Given the description of an element on the screen output the (x, y) to click on. 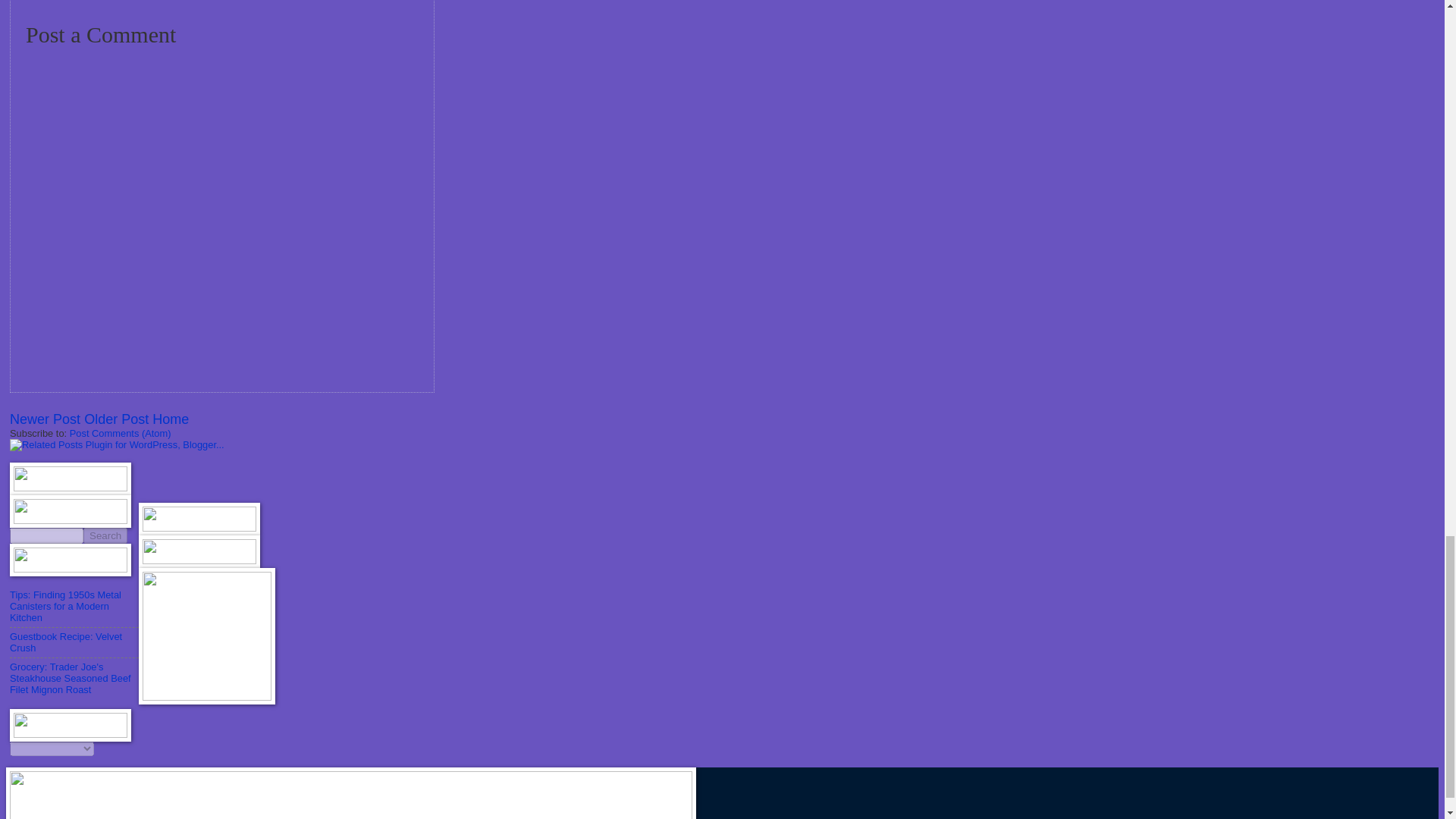
Tips: Finding 1950s Metal Canisters for a Modern Kitchen (65, 605)
Guestbook Recipe: Velvet Crush (66, 641)
Home (170, 418)
Search (105, 535)
Search (105, 535)
search (46, 535)
search (105, 535)
Older Post (116, 418)
Older Post (116, 418)
Newer Post (45, 418)
Newer Post (45, 418)
Search (105, 535)
